Given the description of an element on the screen output the (x, y) to click on. 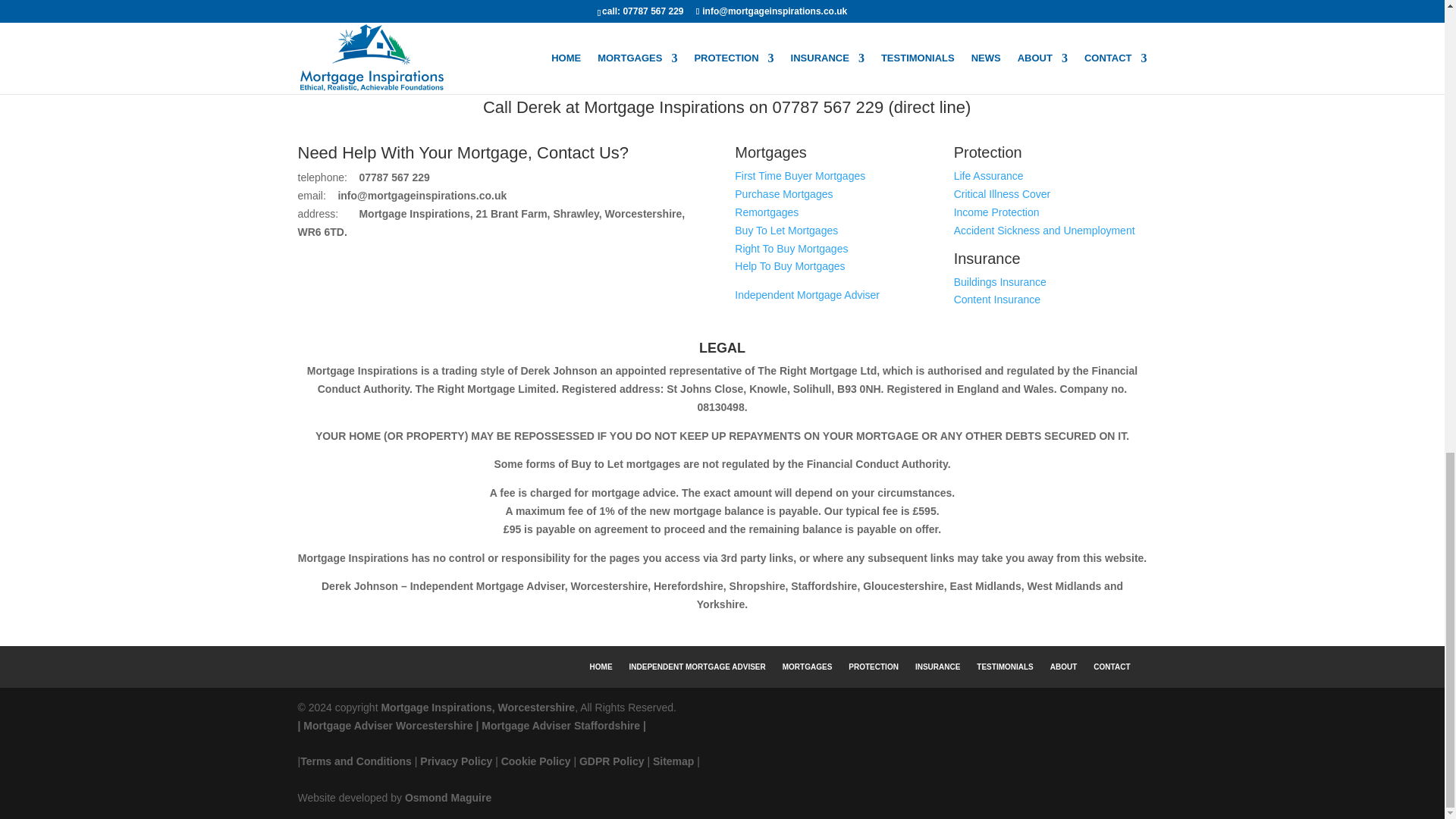
Help To Buy Mortgages (789, 265)
07787 567 229 (827, 107)
Independent Mortgage Adviser (807, 295)
First Time Buyer Mortgages (799, 175)
Remortgages (766, 212)
Critical Illness Cover (1002, 193)
Right To Buy Mortgages (791, 248)
Life Assurance (988, 175)
Buy To Let Mortgages (786, 230)
Purchase Mortgages (783, 193)
